Given the description of an element on the screen output the (x, y) to click on. 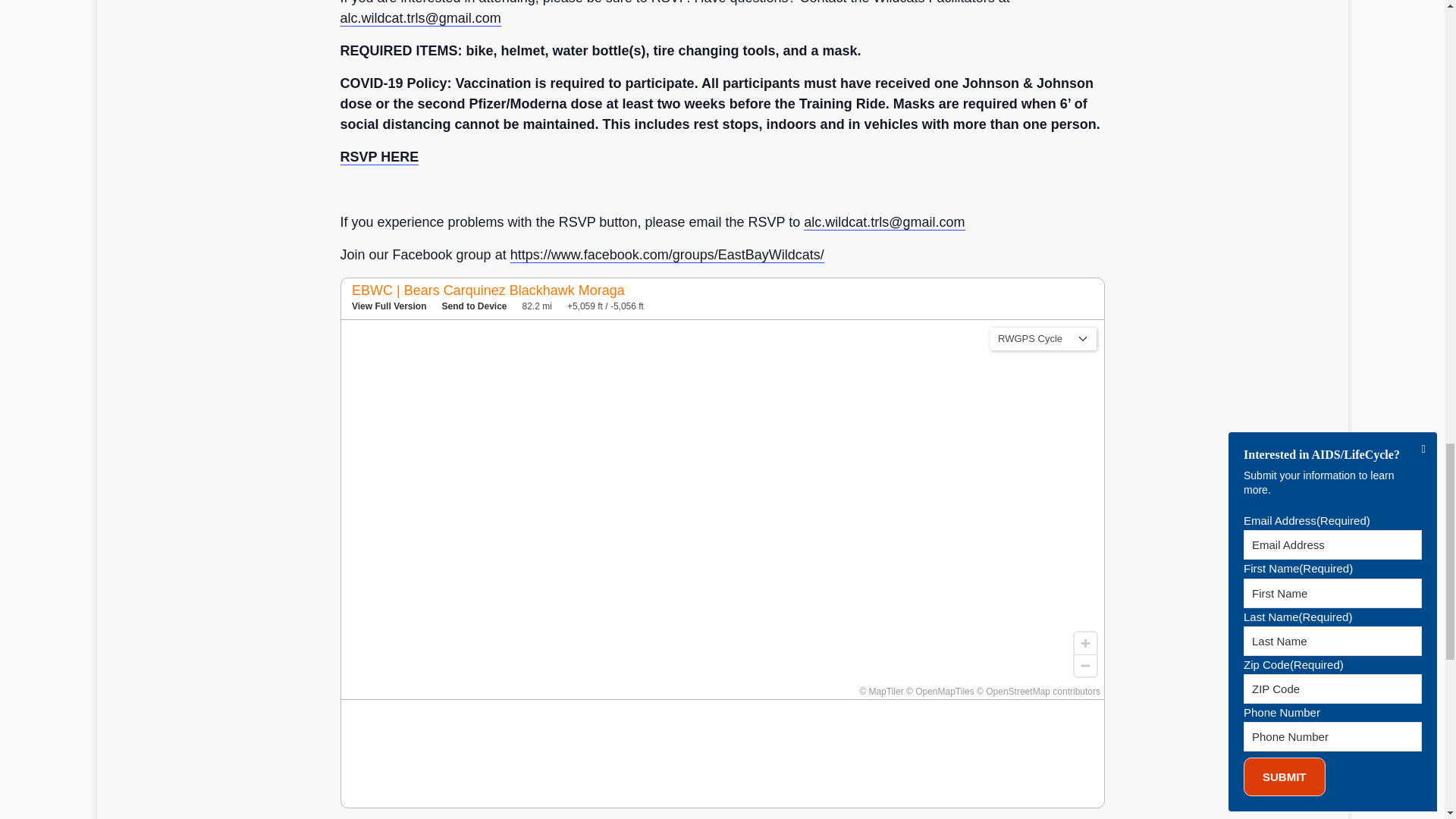
RSVP HERE (379, 157)
